Given the description of an element on the screen output the (x, y) to click on. 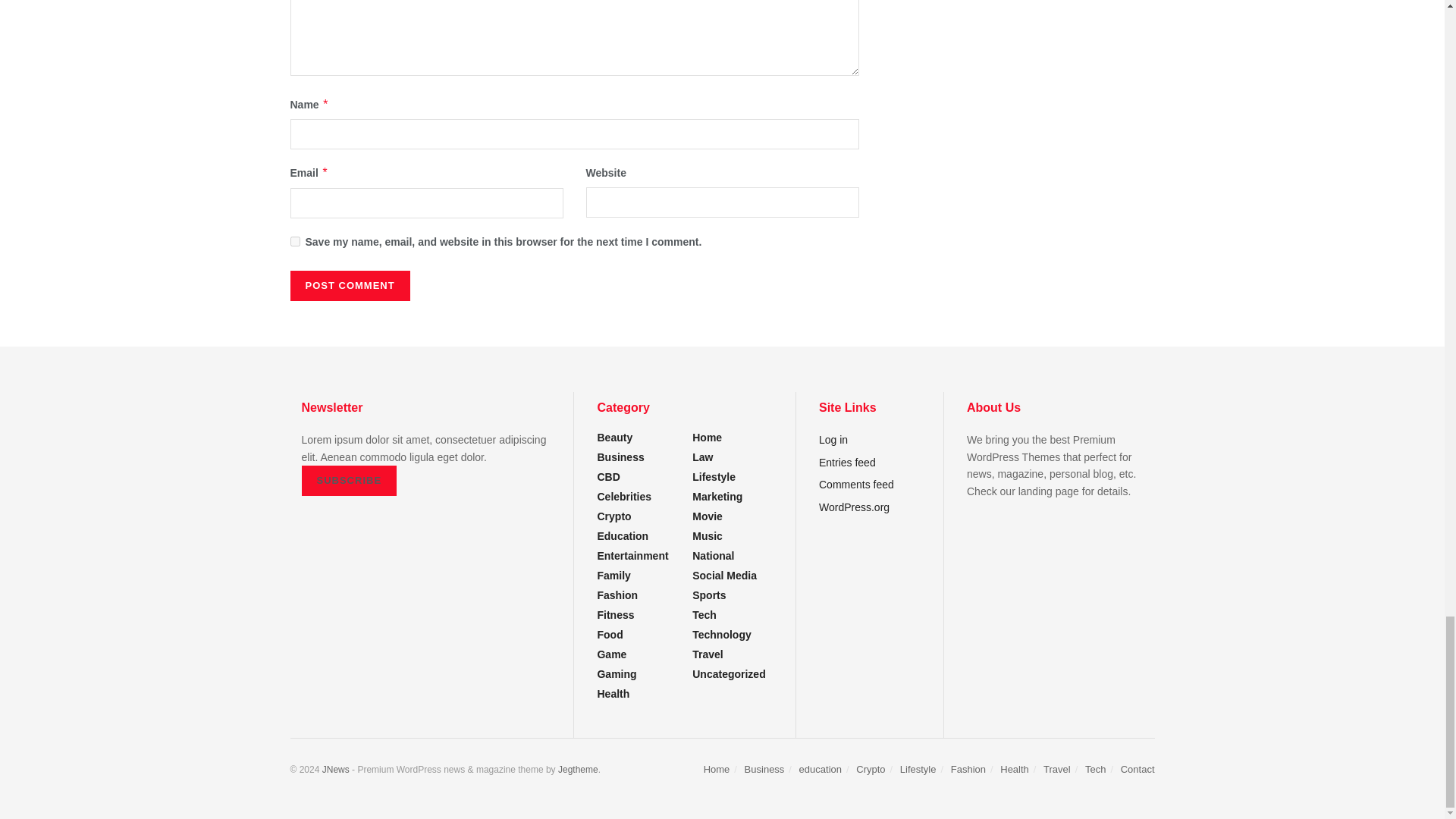
yes (294, 241)
Post Comment (349, 286)
Jegtheme (577, 769)
